Given the description of an element on the screen output the (x, y) to click on. 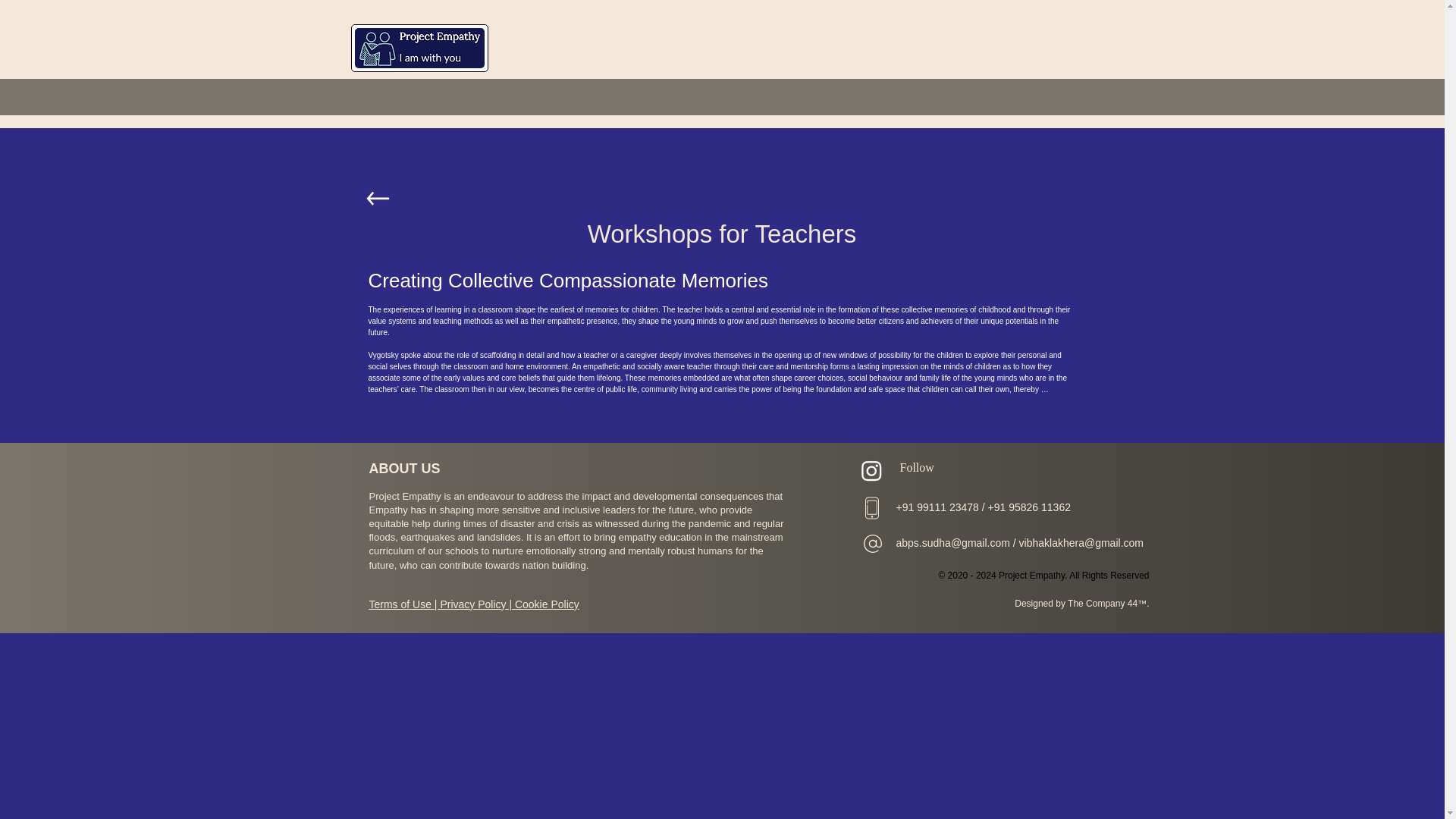
Project Empathy. (1032, 575)
